Given the description of an element on the screen output the (x, y) to click on. 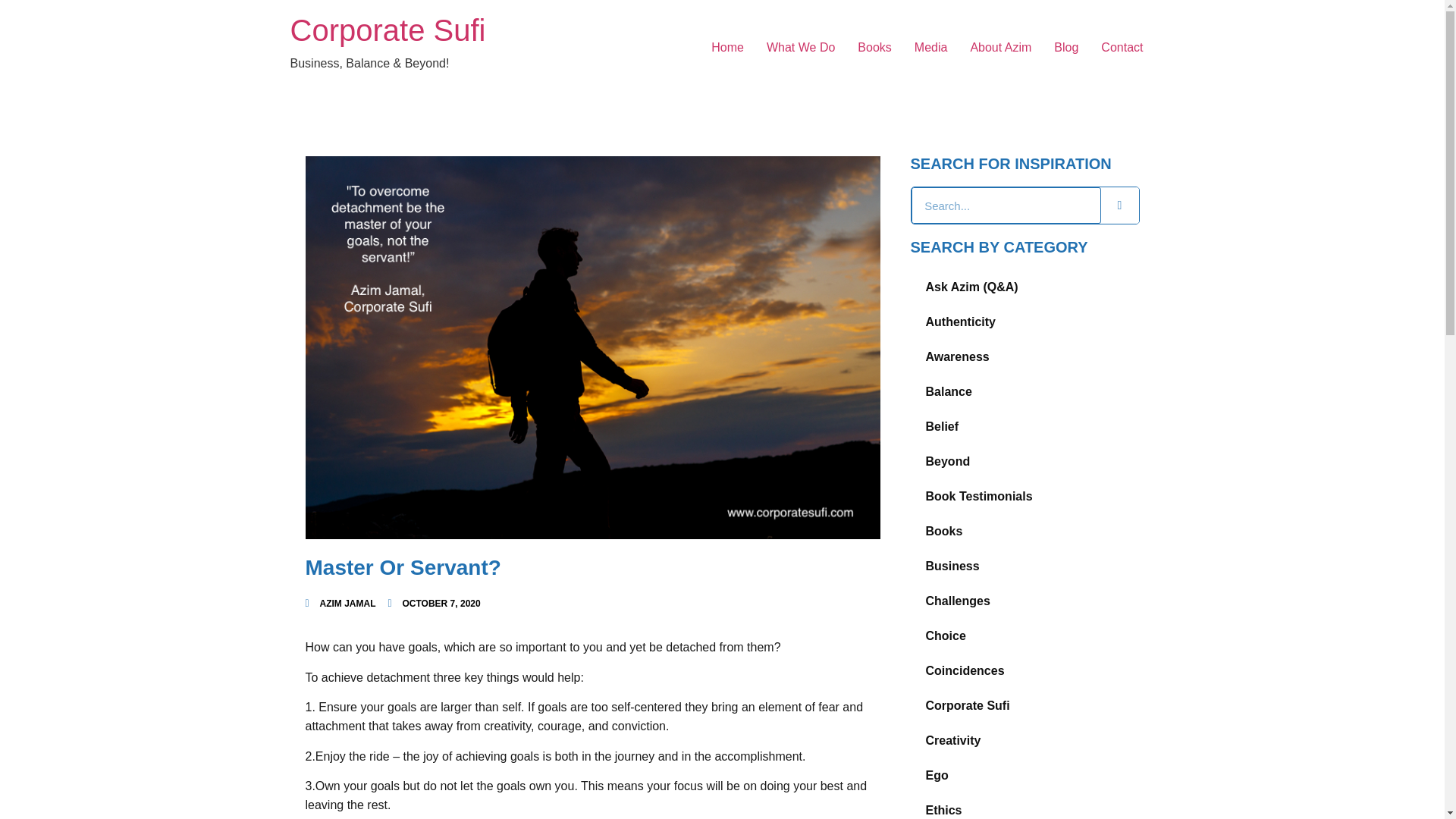
Blog (1065, 47)
Book Testimonials (1024, 496)
Awareness (1024, 356)
Books (1024, 531)
Challenges (1024, 601)
Beyond (1024, 461)
AZIM JAMAL (339, 603)
Creativity (1024, 740)
Corporate Sufi (1024, 705)
Authenticity (1024, 321)
